Given the description of an element on the screen output the (x, y) to click on. 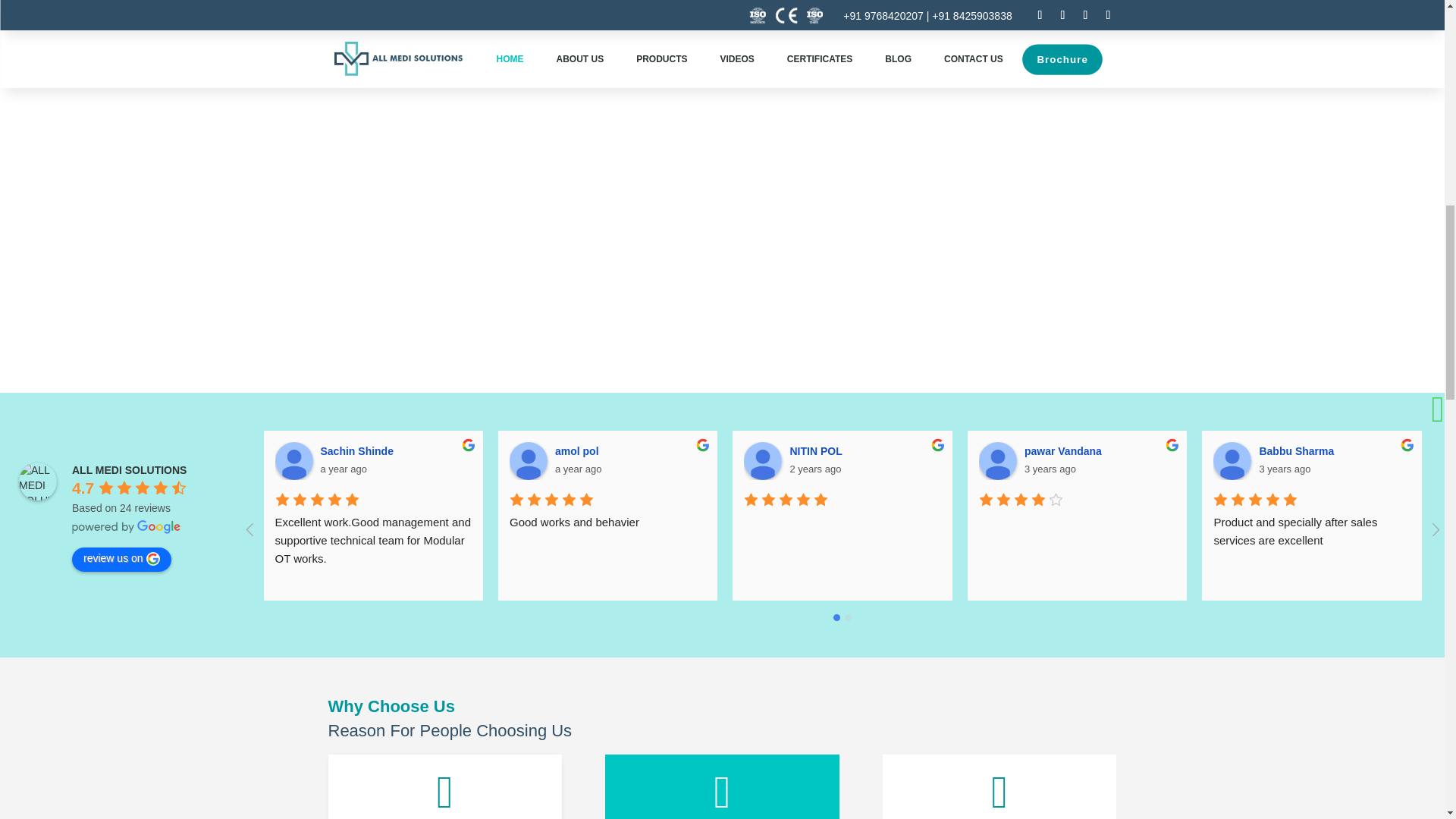
amol pol (528, 460)
pawar Vandana (997, 460)
Sachin Shinde (294, 460)
ALL MEDI SOLUTIONS (37, 481)
powered by Google (125, 526)
NITIN POL (762, 460)
Babbu Sharma (1231, 460)
